Given the description of an element on the screen output the (x, y) to click on. 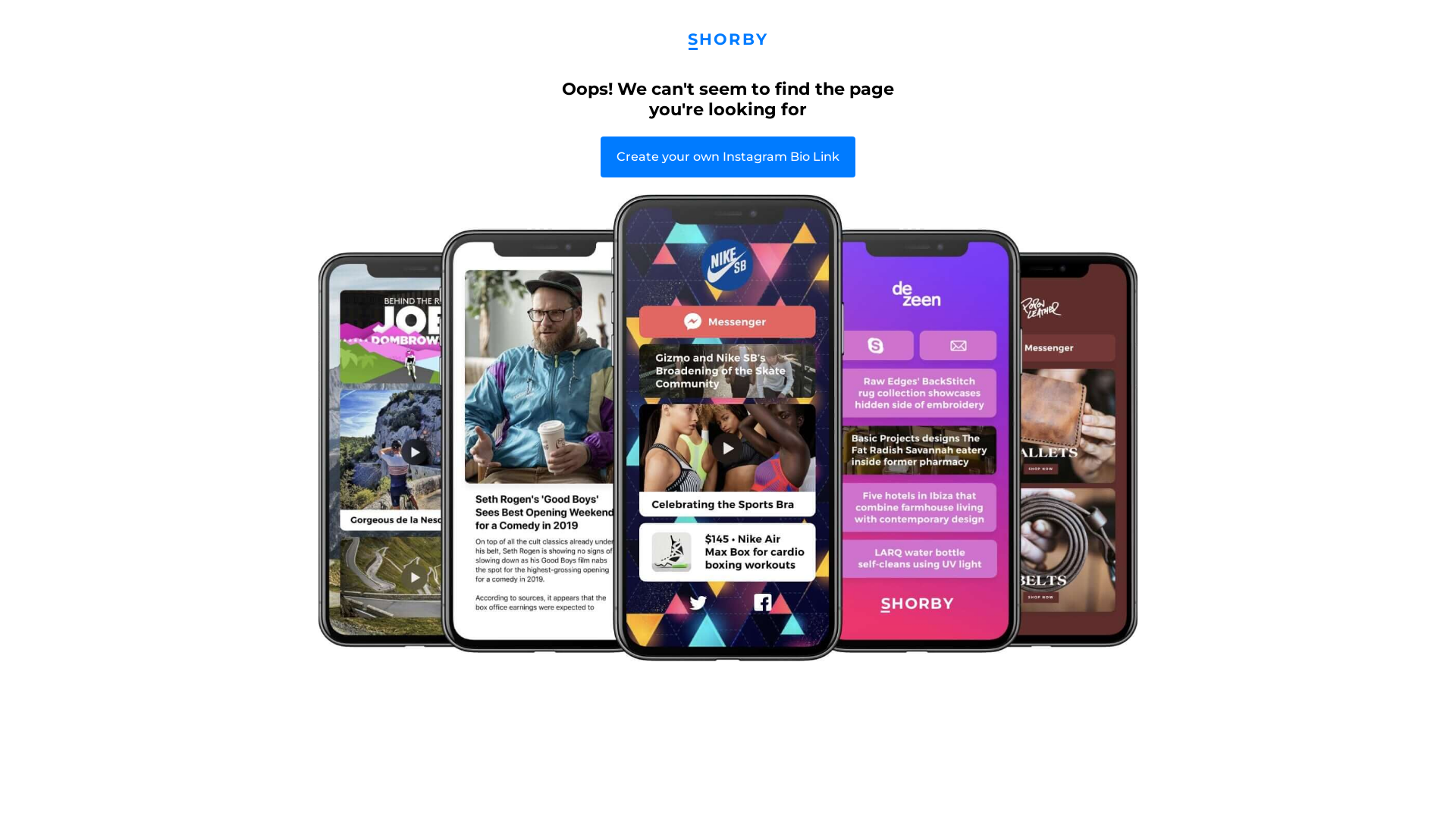
Create your own Instagram Bio Link Element type: text (727, 156)
